Given the description of an element on the screen output the (x, y) to click on. 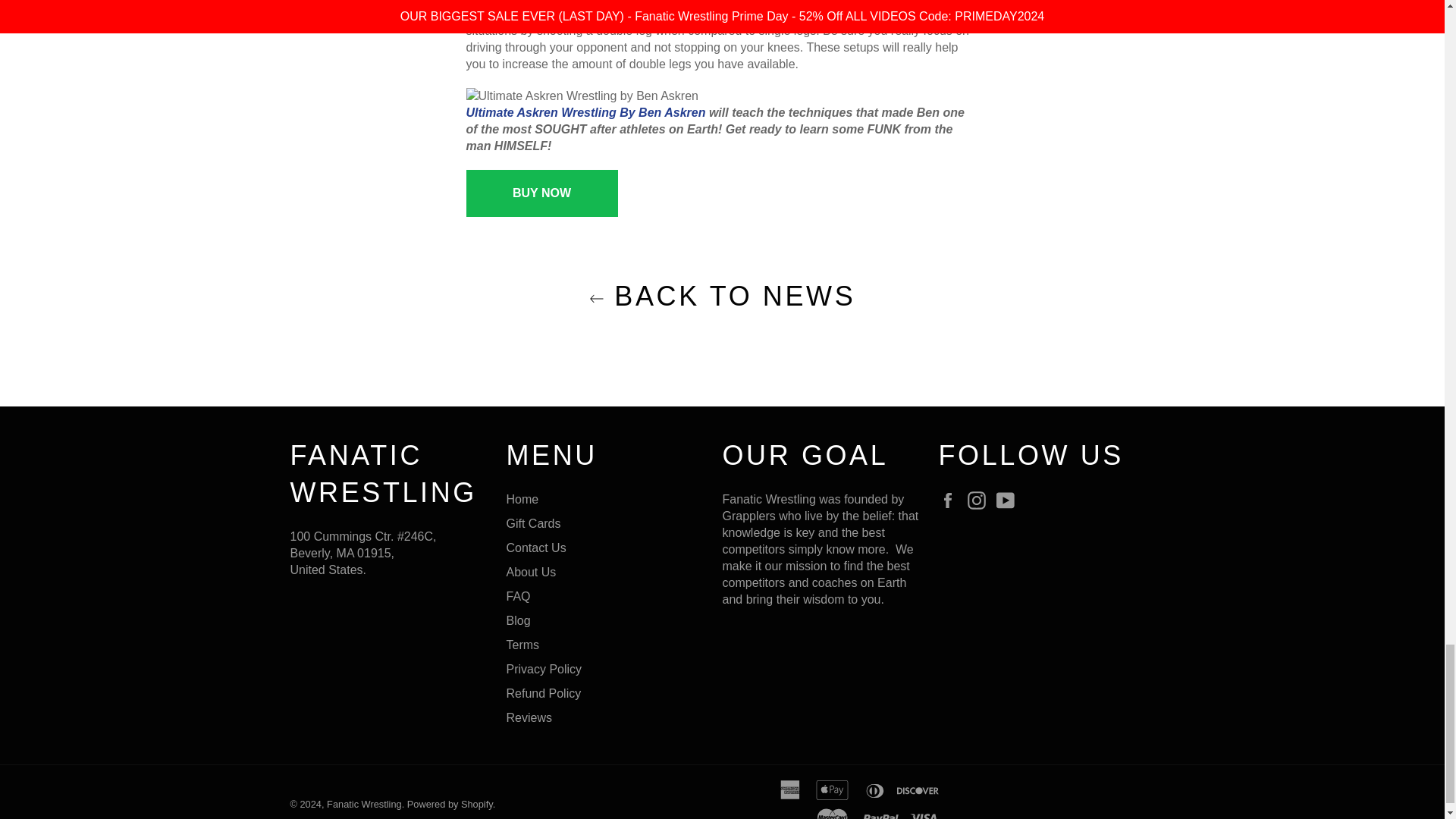
Fanatic Wrestling on Facebook (951, 500)
Fanatic Wrestling on YouTube (1008, 500)
Fanatic Wrestling on Instagram (980, 500)
